Given the description of an element on the screen output the (x, y) to click on. 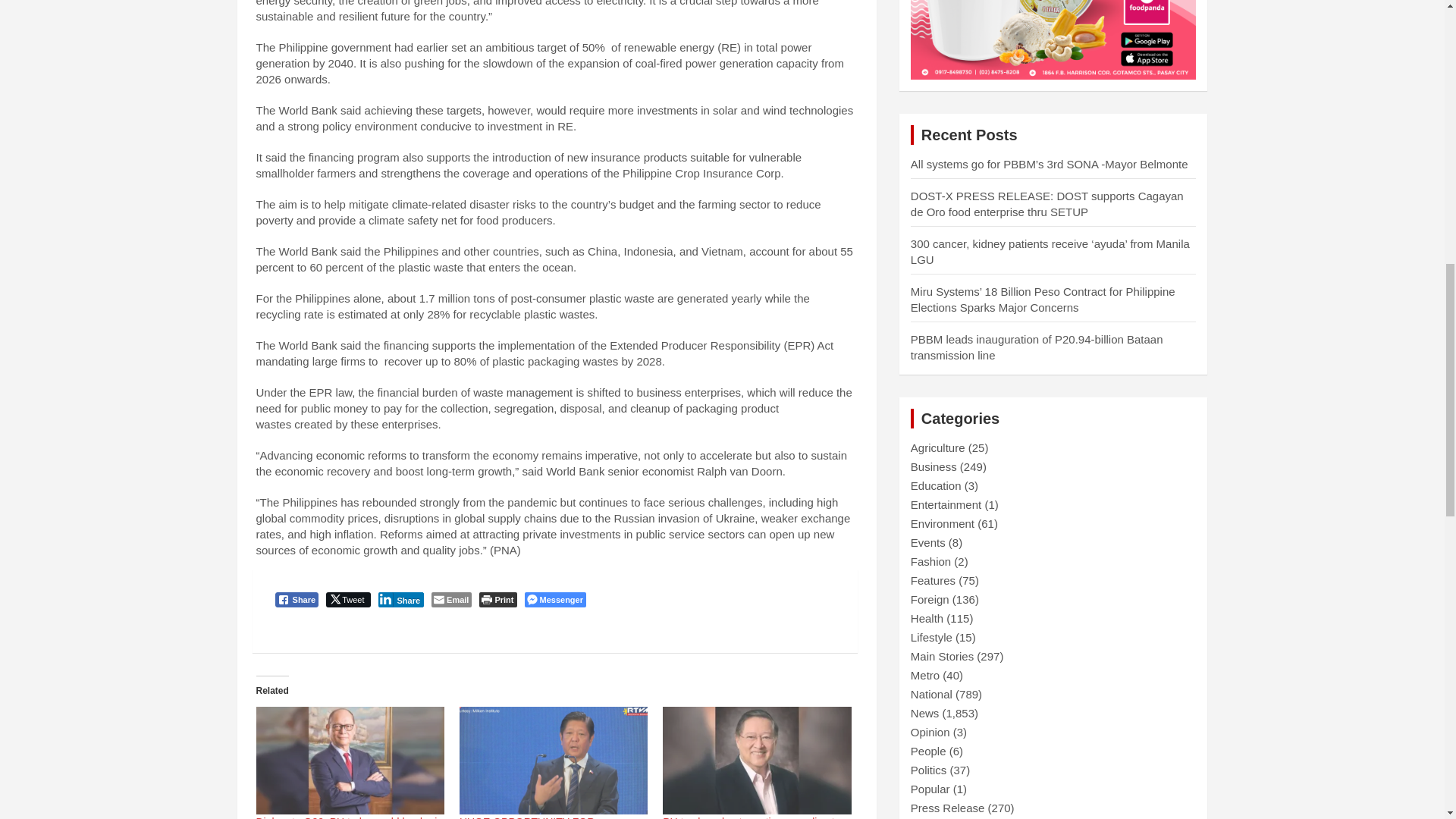
Share (296, 599)
Advertisement (1053, 39)
PH to share best practices vs. climate change with Asean (756, 760)
PH to share best practices vs. climate change with Asean (751, 817)
Share (400, 599)
Print (497, 599)
Diokno to G20: PH to be world leader in climate action (350, 817)
Diokno to G20: PH to be world leader in climate action (350, 760)
Messenger (555, 599)
Email (450, 599)
Tweet (347, 599)
